Given the description of an element on the screen output the (x, y) to click on. 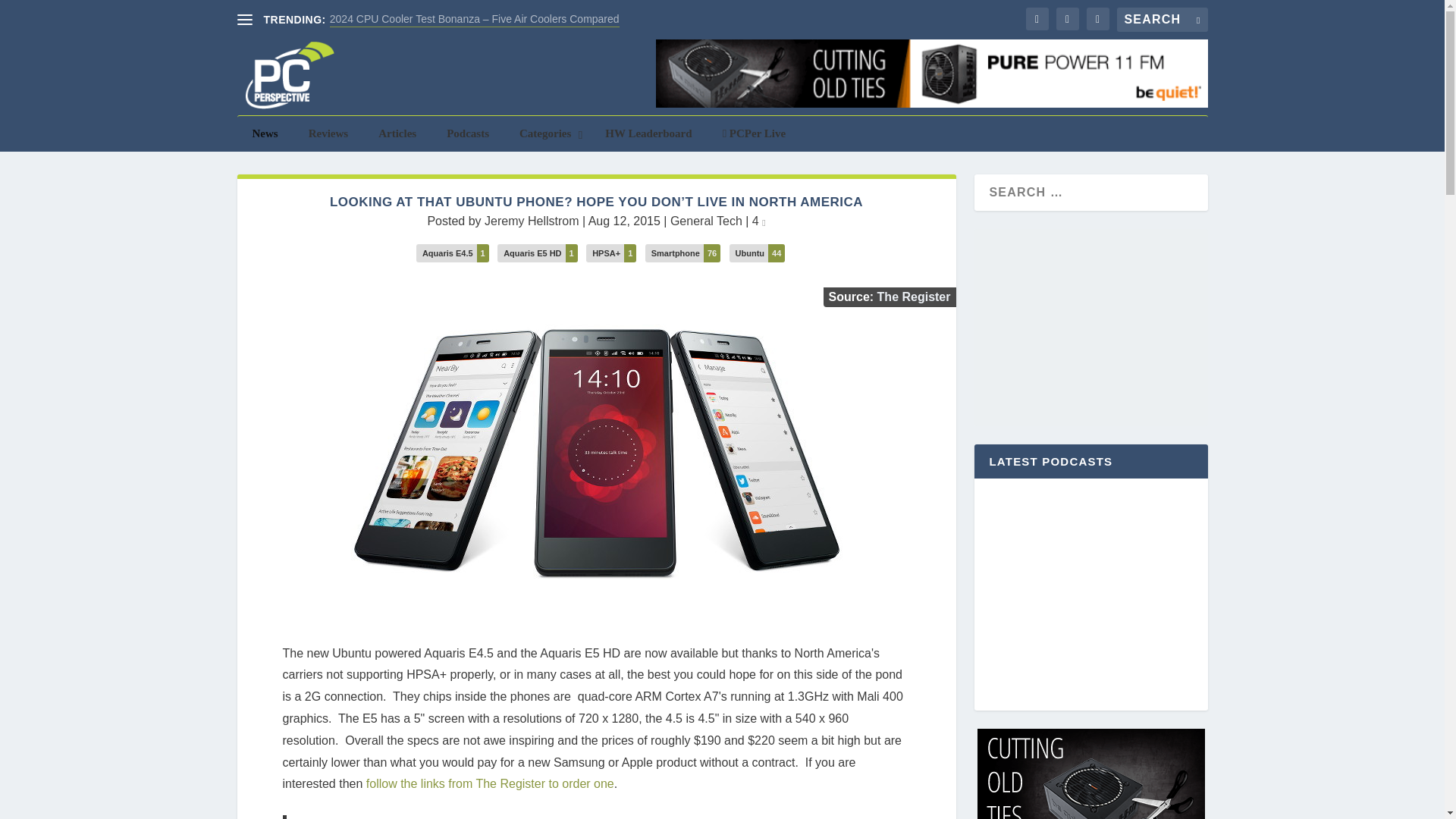
Articles (396, 133)
Podcasts (466, 133)
HW Leaderboard (647, 133)
Search for: (1161, 19)
Reviews (329, 133)
News (263, 133)
PCPer Live (754, 133)
Posts by Jeremy Hellstrom (531, 220)
Categories (546, 133)
